Given the description of an element on the screen output the (x, y) to click on. 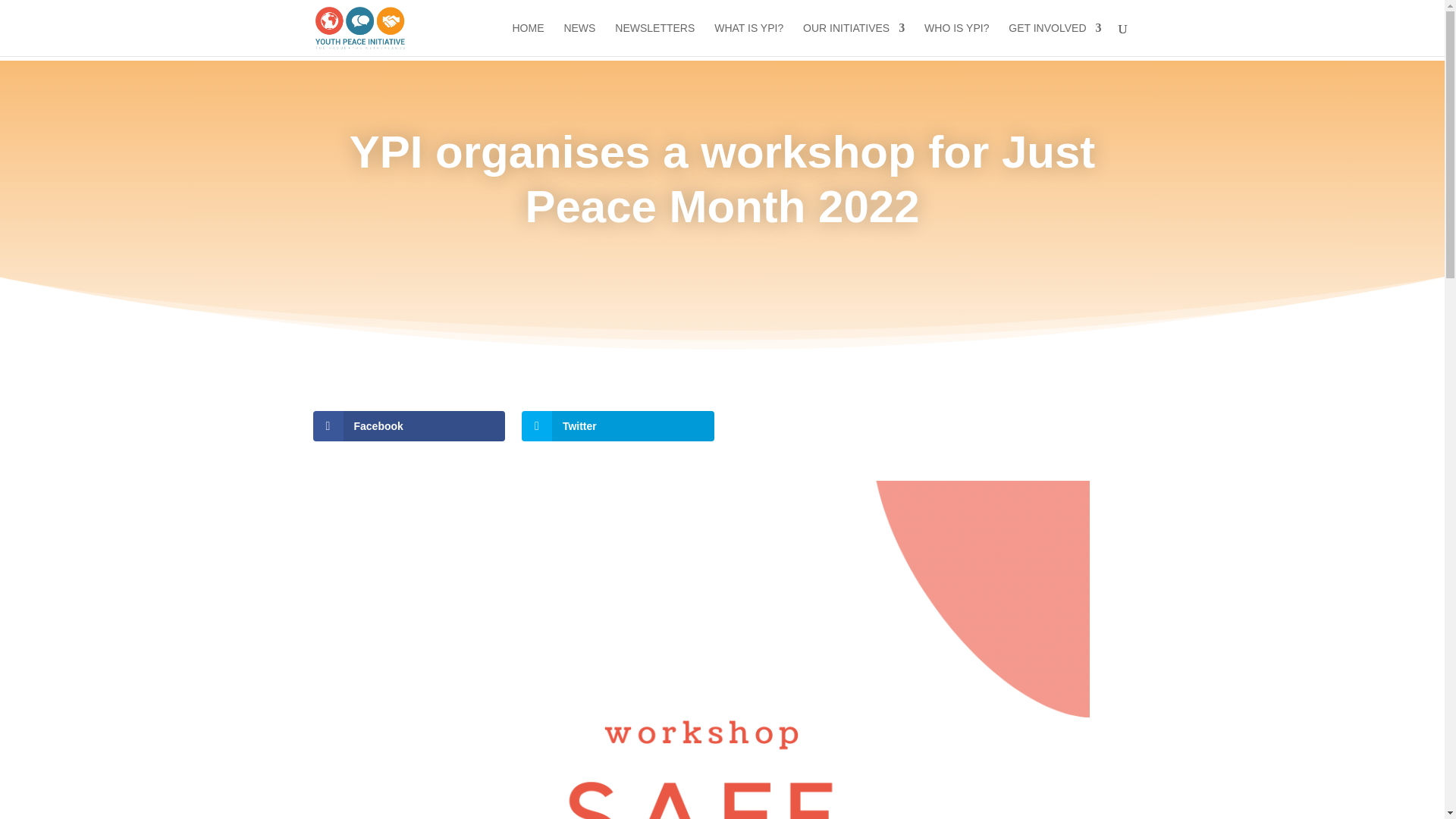
NEWS (579, 39)
NEWSLETTERS (654, 39)
WHAT IS YPI? (748, 39)
Twitter (617, 426)
GET INVOLVED (1054, 39)
WHO IS YPI? (956, 39)
Facebook (409, 426)
HOME (528, 39)
OUR INITIATIVES (853, 39)
